Given the description of an element on the screen output the (x, y) to click on. 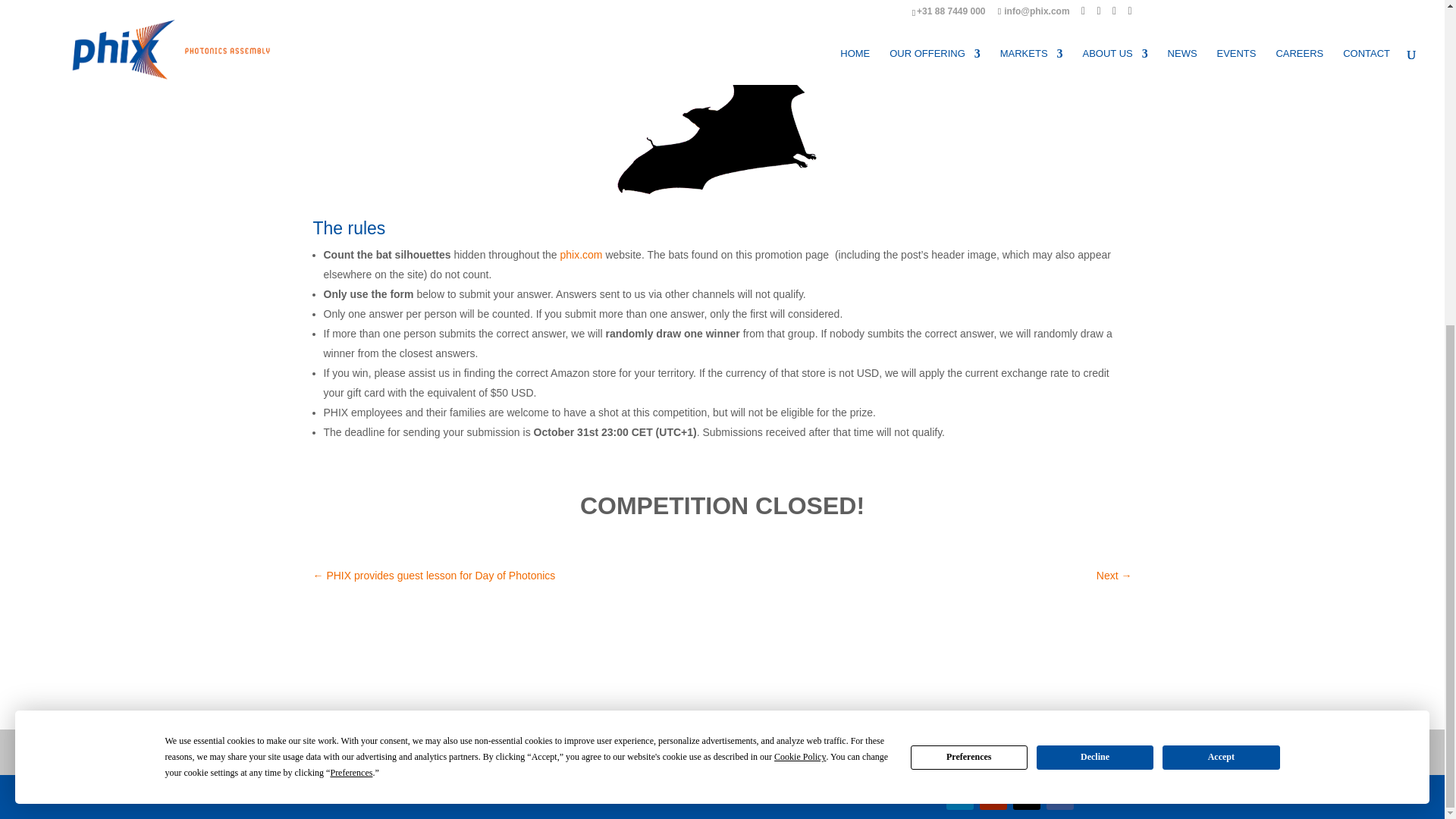
Accept (1220, 223)
Preferences (969, 223)
Follow on Facebook (1060, 795)
Follow on Youtube (993, 795)
Decline (1094, 223)
Cookie Policy (799, 223)
Follow on LinkedIn (960, 795)
Preferences (351, 239)
Follow on X (1027, 795)
